Given the description of an element on the screen output the (x, y) to click on. 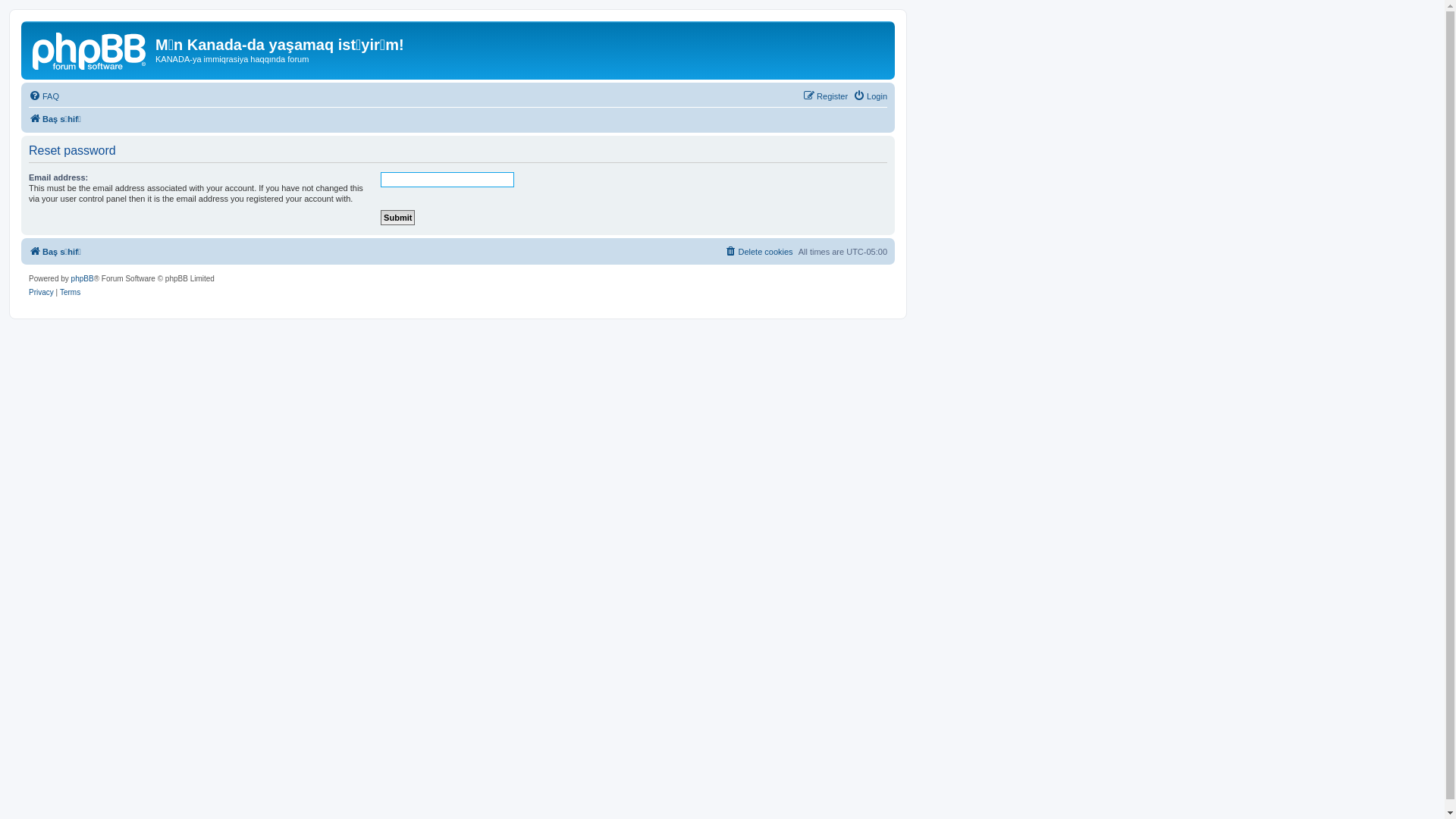
FAQ Element type: text (43, 96)
Delete cookies Element type: text (758, 251)
phpBB Element type: text (82, 278)
Privacy Element type: text (40, 292)
Login Element type: text (870, 96)
Register Element type: text (825, 96)
Terms Element type: text (69, 292)
Submit Element type: text (397, 217)
